Given the description of an element on the screen output the (x, y) to click on. 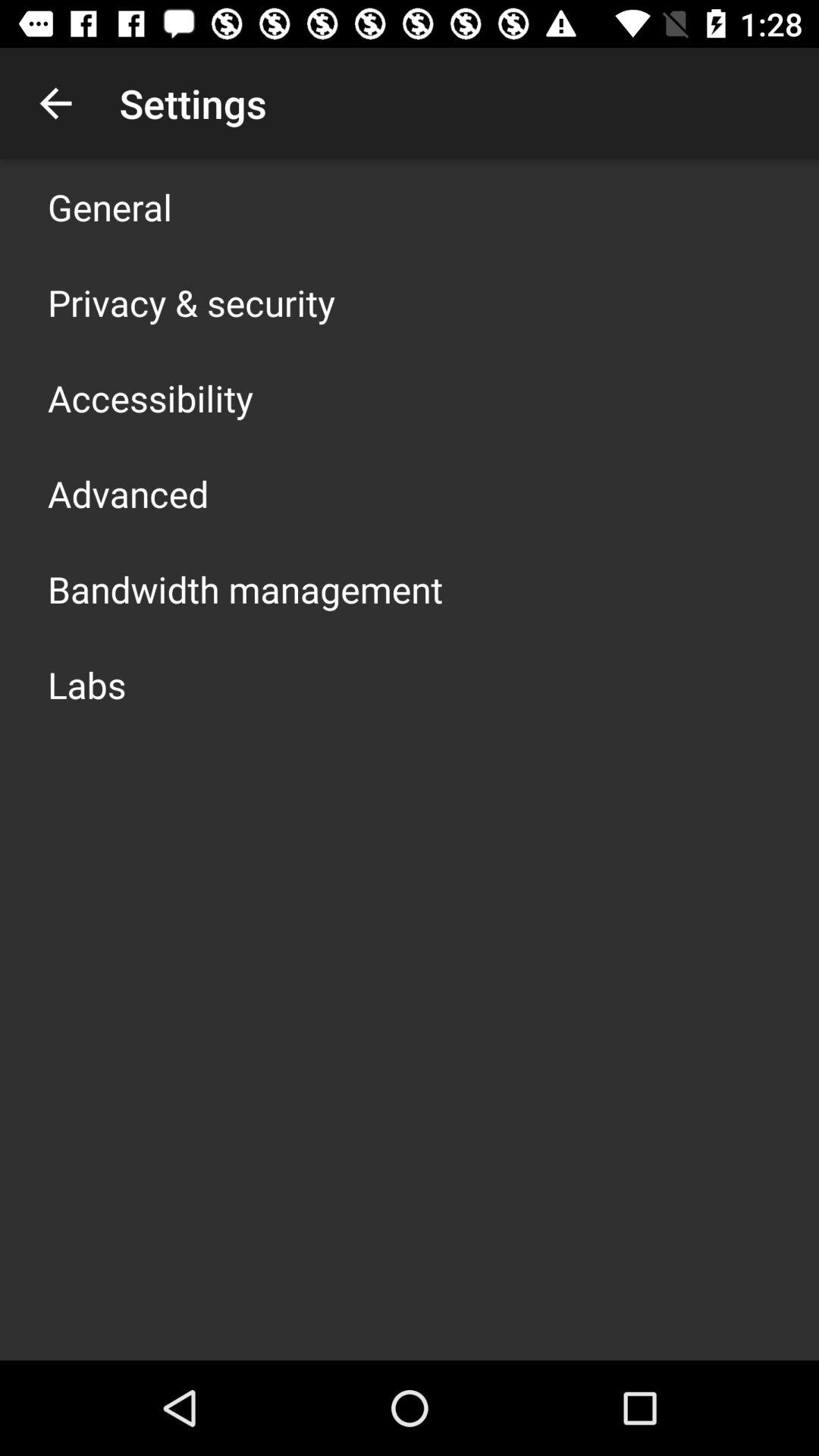
tap the privacy & security icon (190, 302)
